Given the description of an element on the screen output the (x, y) to click on. 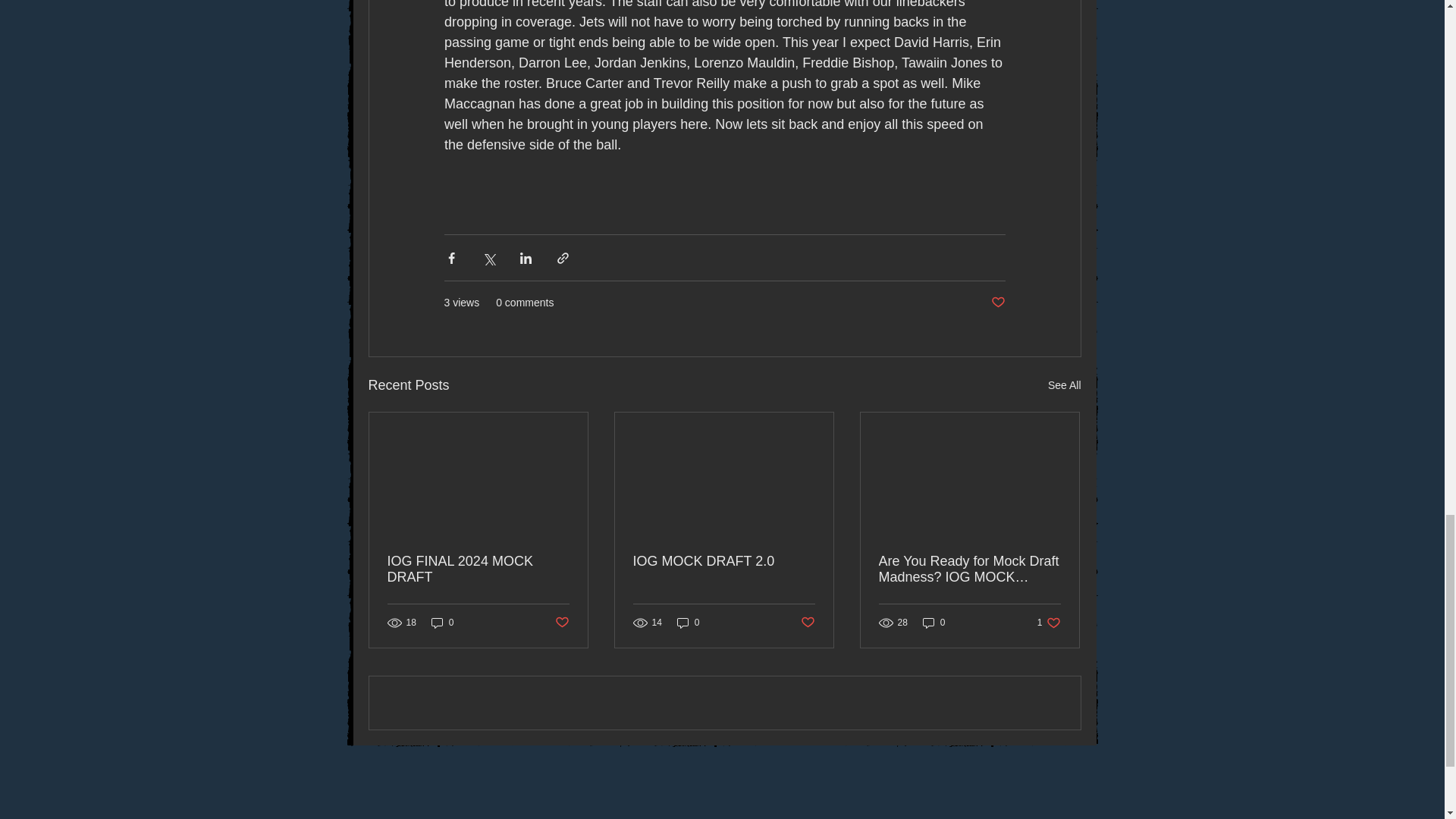
0 (688, 622)
IOG FINAL 2024 MOCK DRAFT (478, 569)
See All (1064, 385)
Are You Ready for Mock Draft Madness? IOG MOCK DRAFT 1.0 (968, 569)
Post not marked as liked (807, 622)
IOG MOCK DRAFT 2.0 (722, 561)
0 (442, 622)
Post not marked as liked (561, 622)
Post not marked as liked (997, 302)
